Given the description of an element on the screen output the (x, y) to click on. 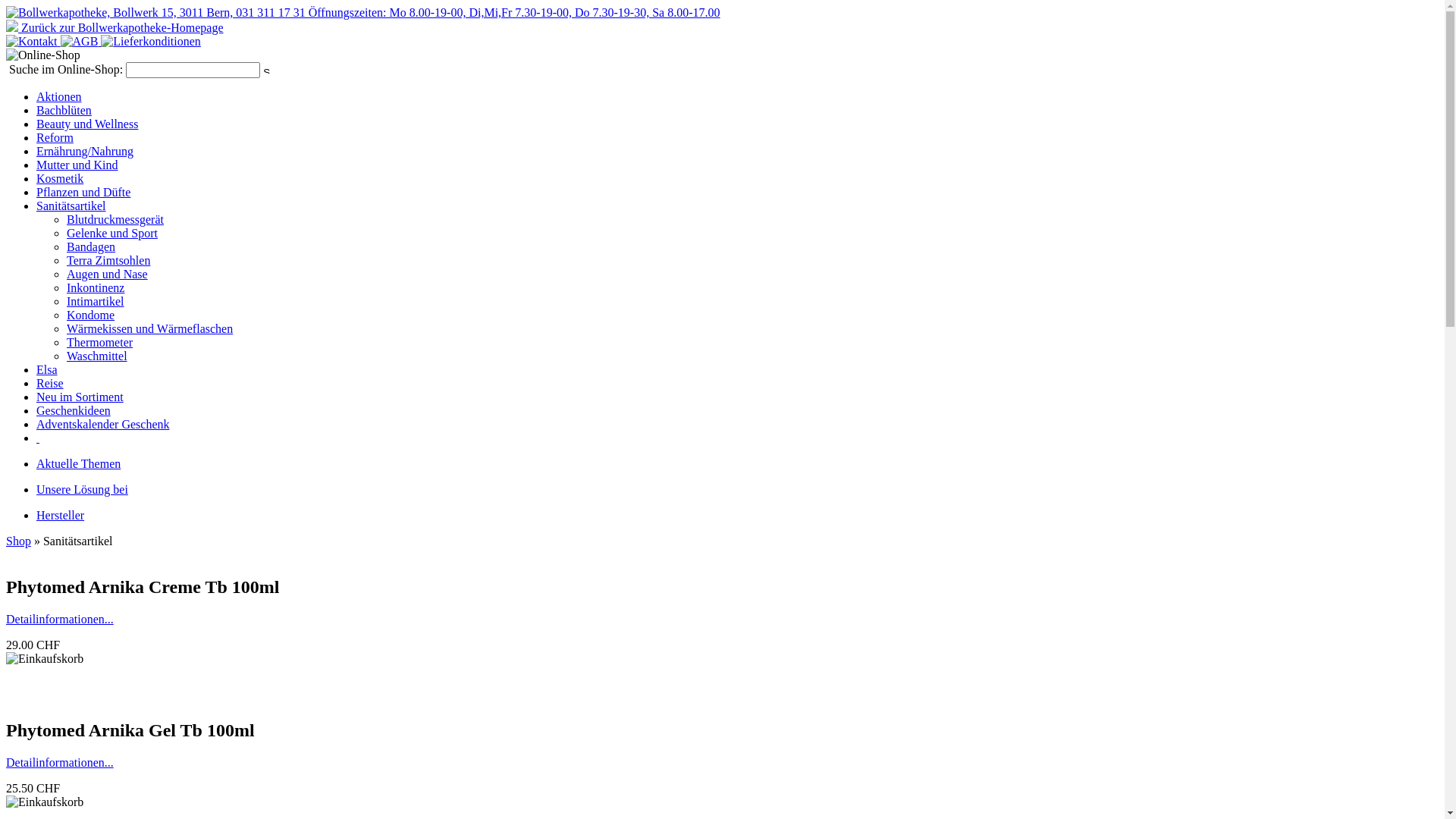
Neu im Sortiment Element type: text (79, 396)
Reise Element type: text (49, 382)
Reform Element type: text (54, 137)
Geschenkideen Element type: text (73, 410)
Zur Startseite vom Onlineshop der Berner Bollwerkapotheke Element type: hover (363, 12)
Elsa Element type: text (46, 369)
Beauty und Wellness Element type: text (87, 123)
Thermometer Element type: text (99, 341)
Kosmetik Element type: text (59, 178)
Mutter und Kind Element type: text (77, 164)
Kondome Element type: text (90, 314)
Waschmittel Element type: text (96, 355)
Intimartikel Element type: text (95, 300)
Gelenke und Sport Element type: text (111, 232)
  Element type: text (37, 437)
Terra Zimtsohlen Element type: text (108, 260)
Aktionen Element type: text (58, 96)
Inkontinenz Element type: text (95, 287)
Shop Element type: text (18, 540)
Augen und Nase Element type: text (106, 273)
Detailinformationen... Element type: text (59, 618)
Aktuelle Themen Element type: text (78, 463)
Adventskalender Geschenk Element type: text (102, 423)
Detailinformationen... Element type: text (59, 762)
Hersteller Element type: text (60, 514)
Bandagen Element type: text (90, 246)
